Given the description of an element on the screen output the (x, y) to click on. 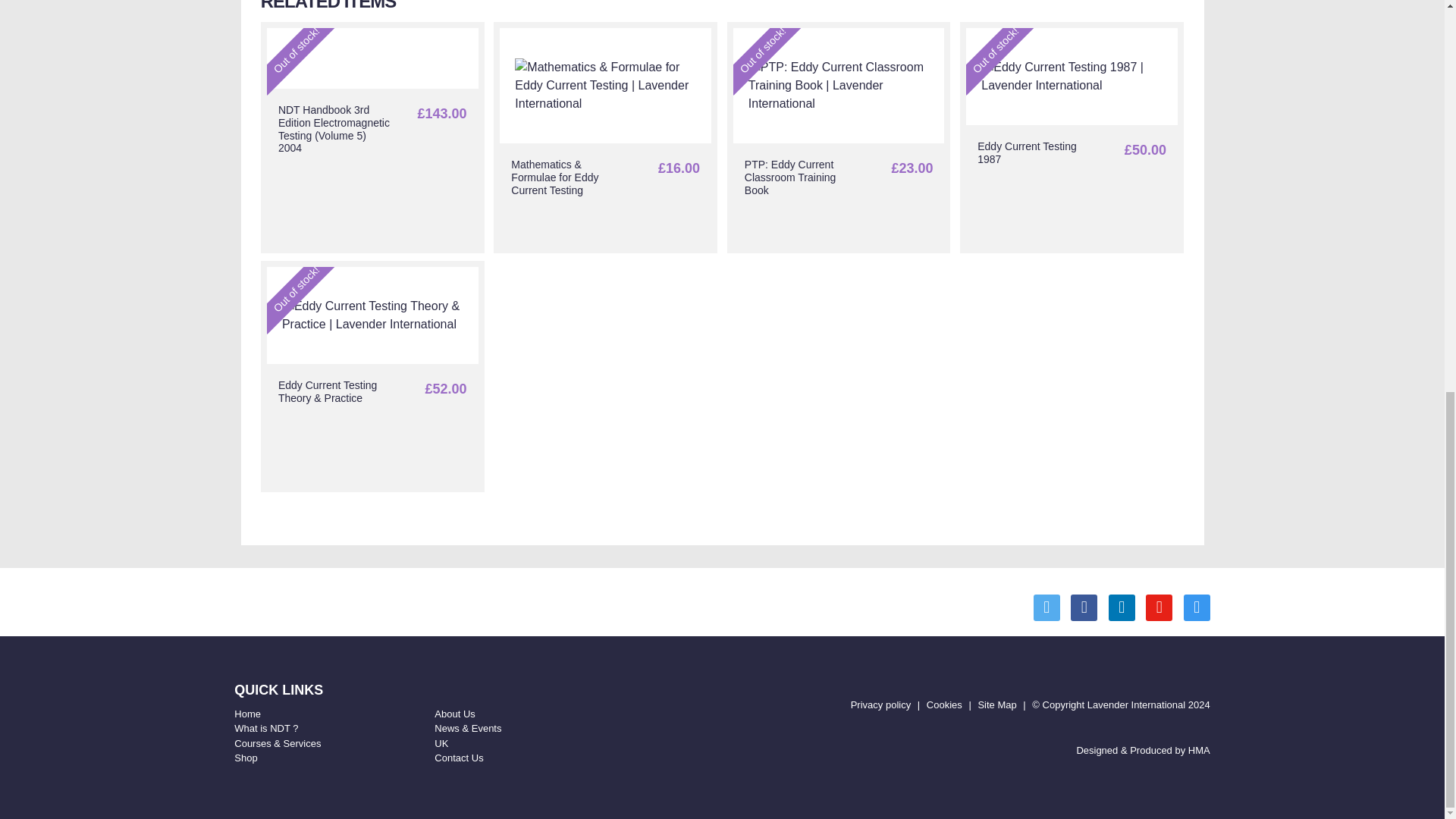
HMA (1198, 749)
PTP: Eddy Current Classroom Training Book (838, 137)
Cookie policy (944, 704)
Eddy Current Testing 1987 (1071, 137)
Privacy policy (880, 704)
Site Map (996, 704)
